Given the description of an element on the screen output the (x, y) to click on. 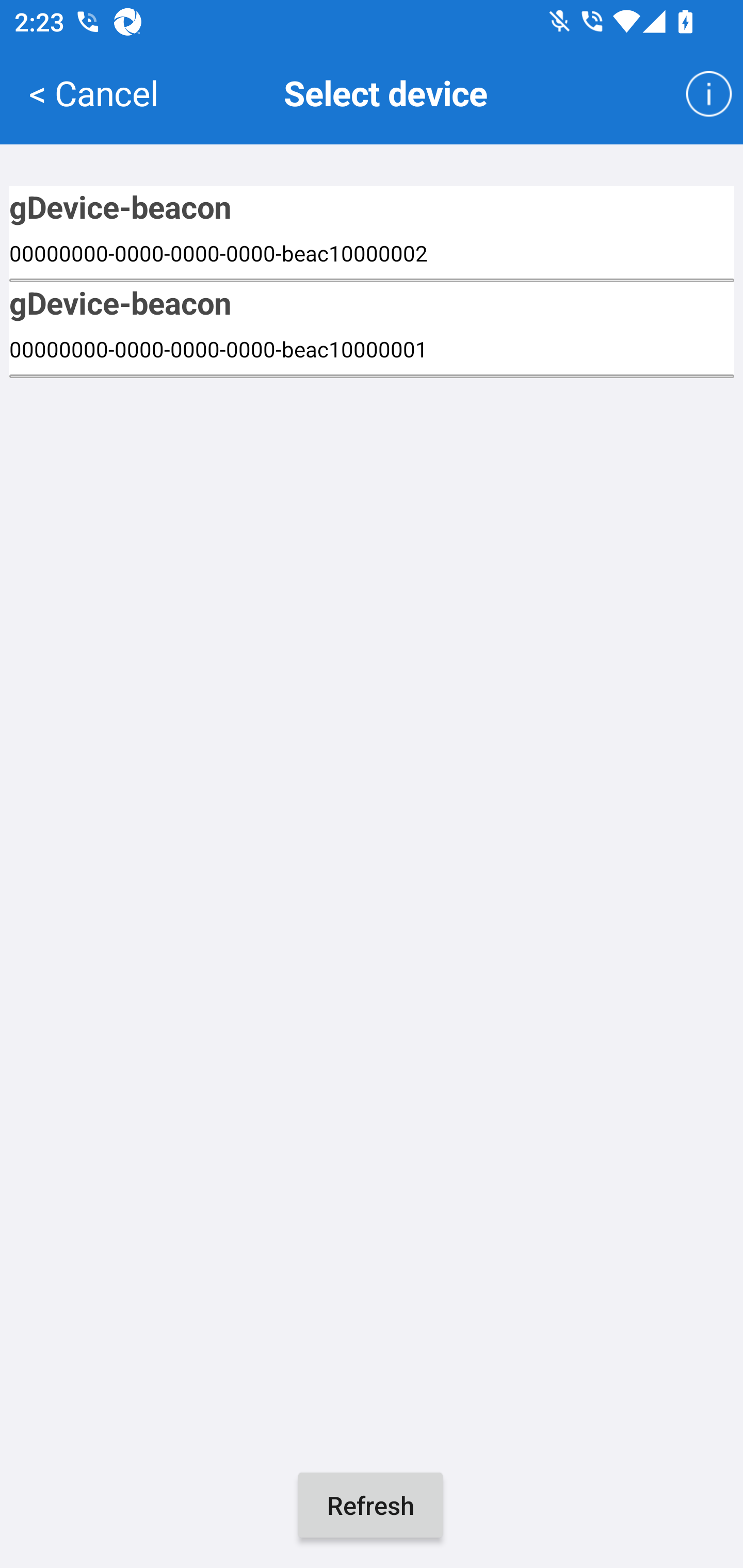
< Cancel (93, 92)
Refresh (370, 1505)
